Given the description of an element on the screen output the (x, y) to click on. 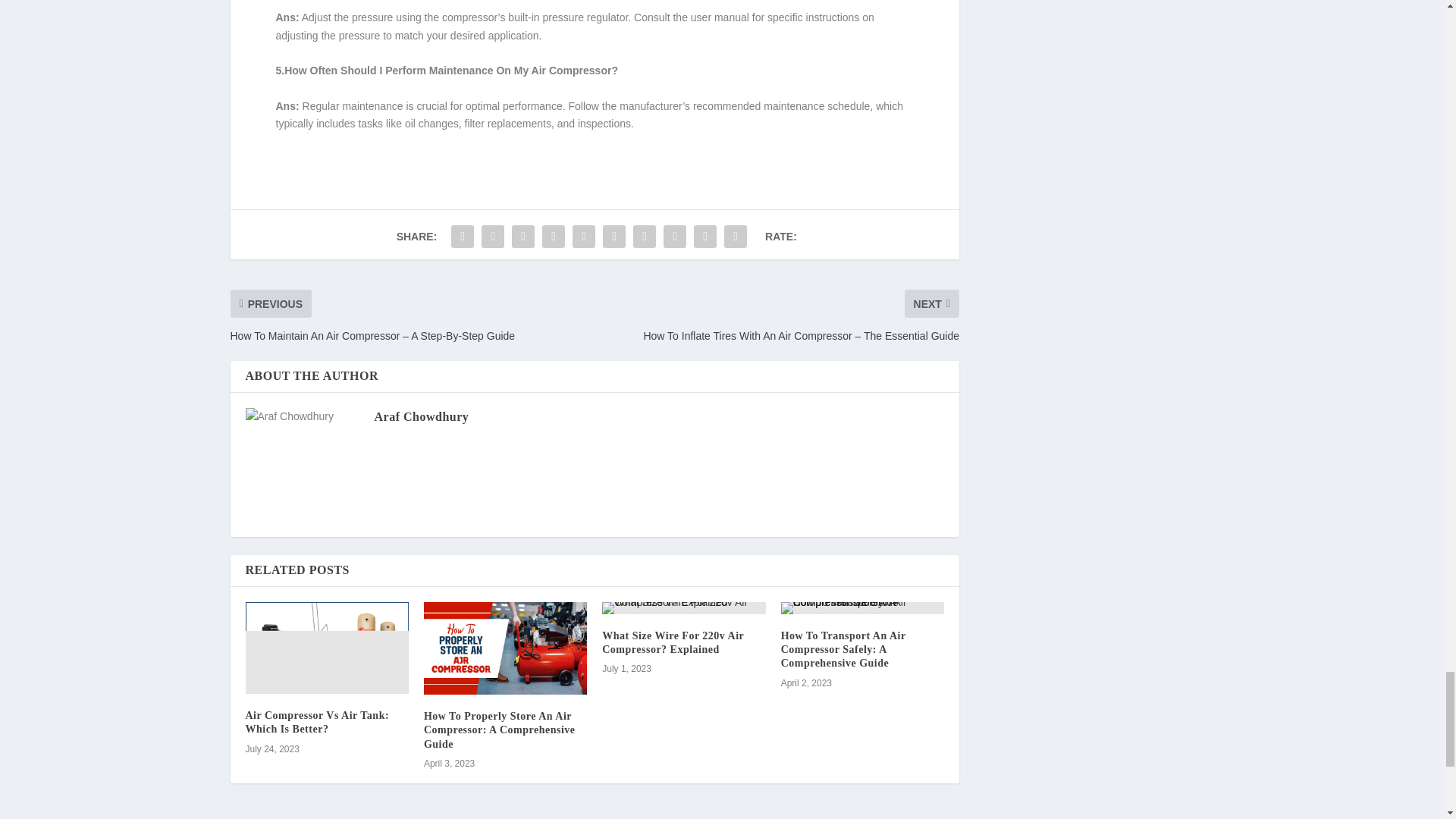
View all posts by Araf Chowdhury (421, 416)
Araf Chowdhury (421, 416)
Air Compressor Vs Air Tank: Which Is Better? (318, 722)
